Given the description of an element on the screen output the (x, y) to click on. 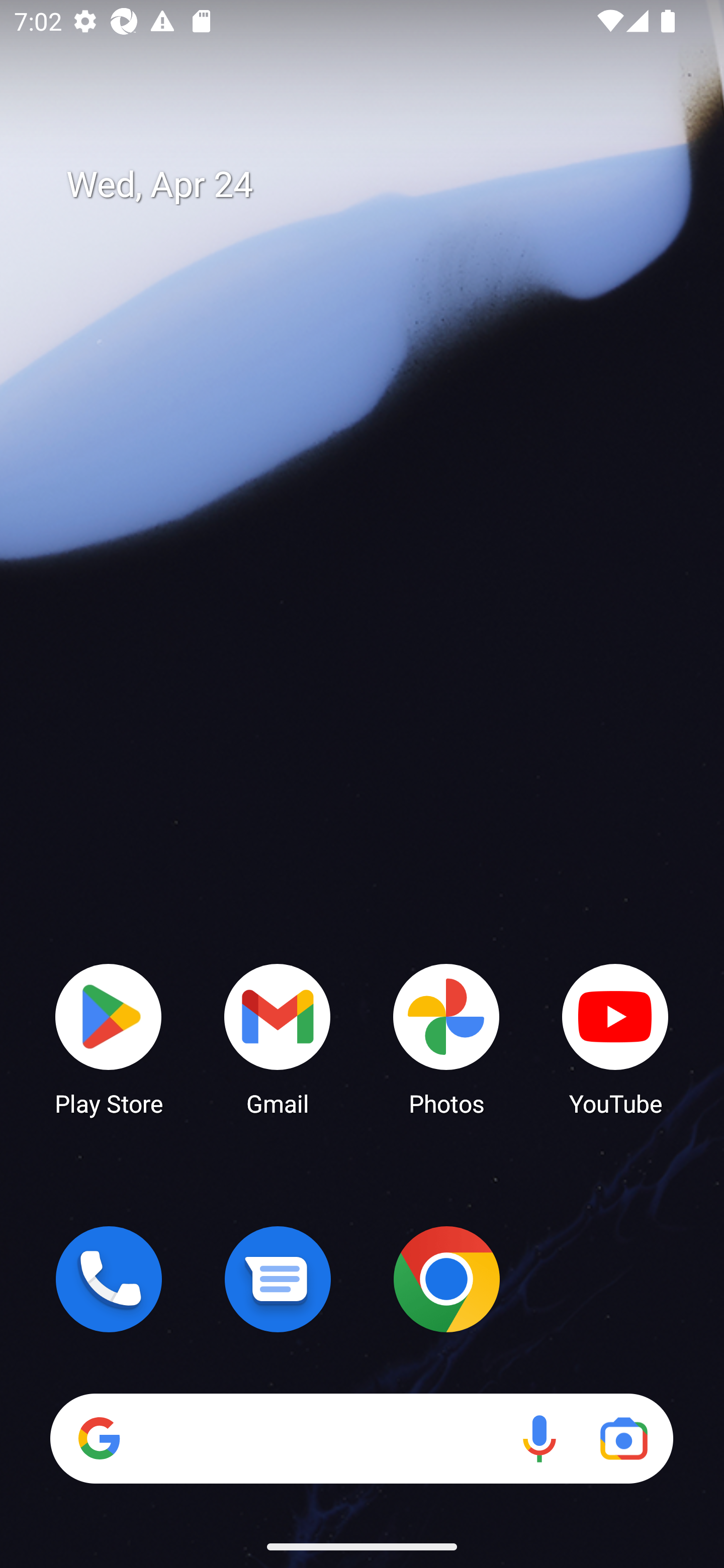
Wed, Apr 24 (375, 184)
Play Store (108, 1038)
Gmail (277, 1038)
Photos (445, 1038)
YouTube (615, 1038)
Phone (108, 1279)
Messages (277, 1279)
Chrome (446, 1279)
Search Voice search Google Lens (361, 1438)
Voice search (539, 1438)
Google Lens (623, 1438)
